Given the description of an element on the screen output the (x, y) to click on. 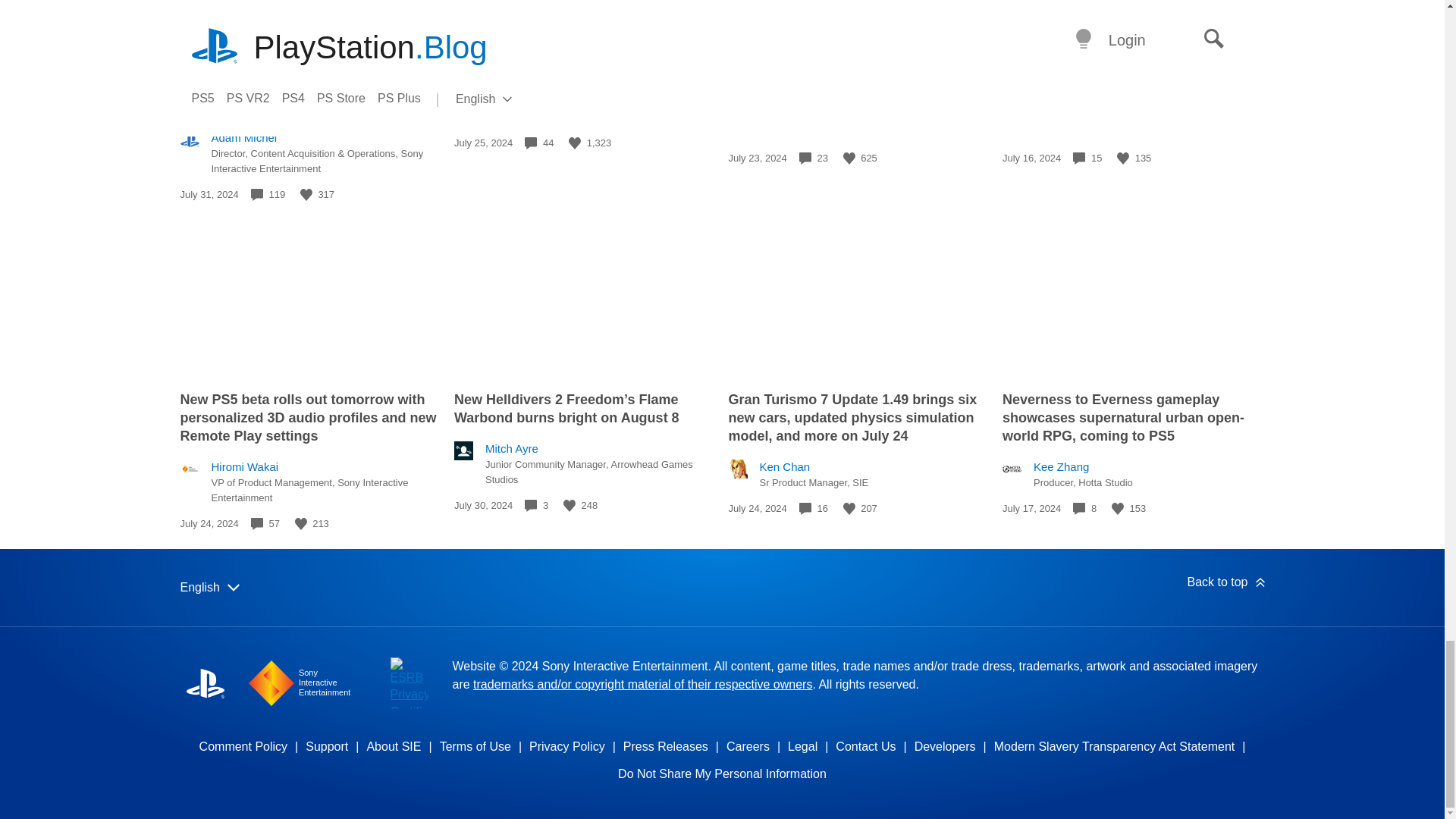
Like this (306, 194)
Like this (1122, 158)
Like this (301, 523)
Like this (574, 143)
Like this (849, 158)
